Given the description of an element on the screen output the (x, y) to click on. 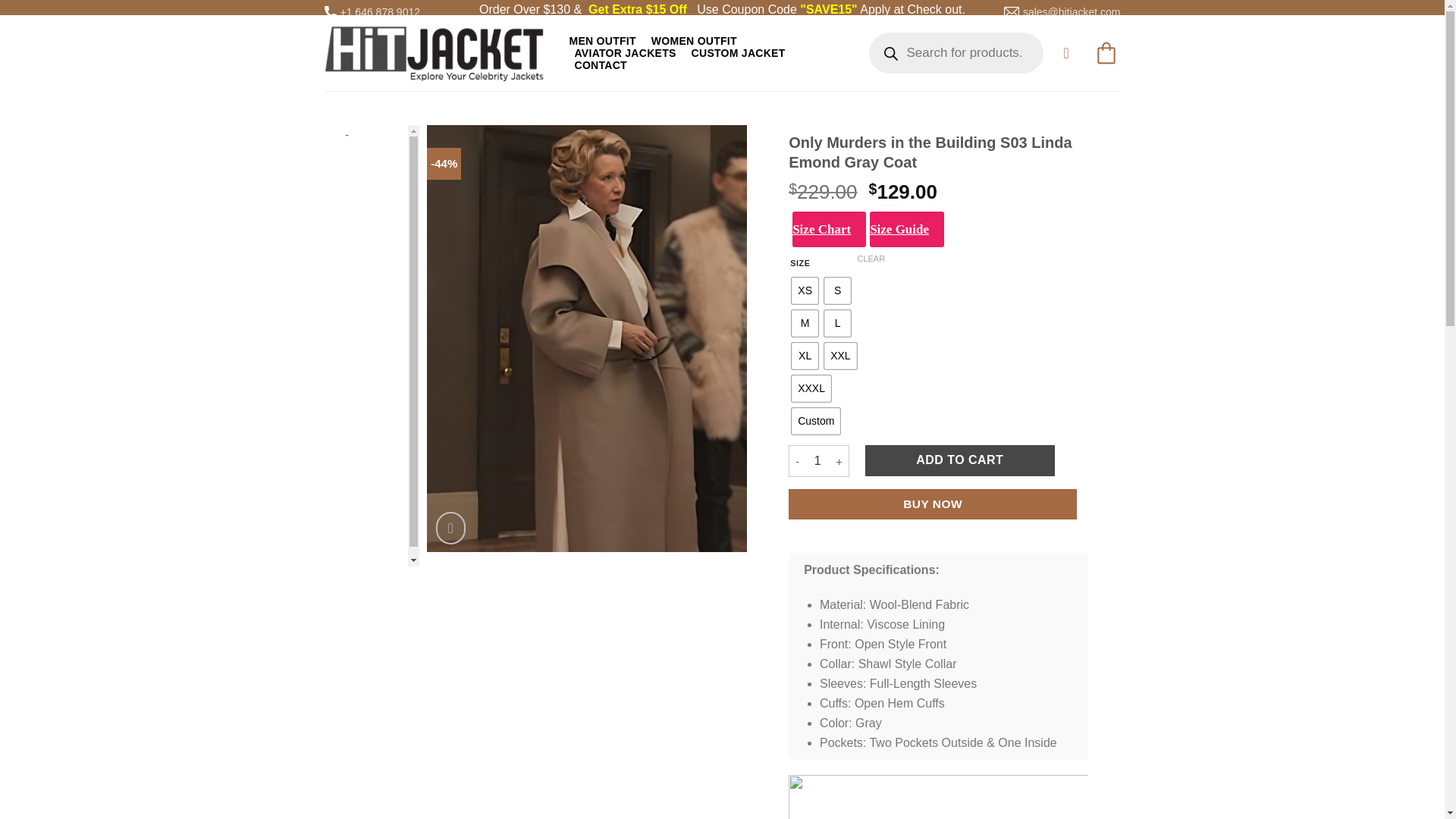
AVIATOR JACKETS (625, 52)
Size Chart (829, 229)
Hit Jacket (434, 52)
XS (805, 290)
Zoom (450, 527)
ADD TO CART (959, 460)
M (805, 323)
S (837, 290)
BUY NOW (933, 503)
CLEAR (871, 258)
